Given the description of an element on the screen output the (x, y) to click on. 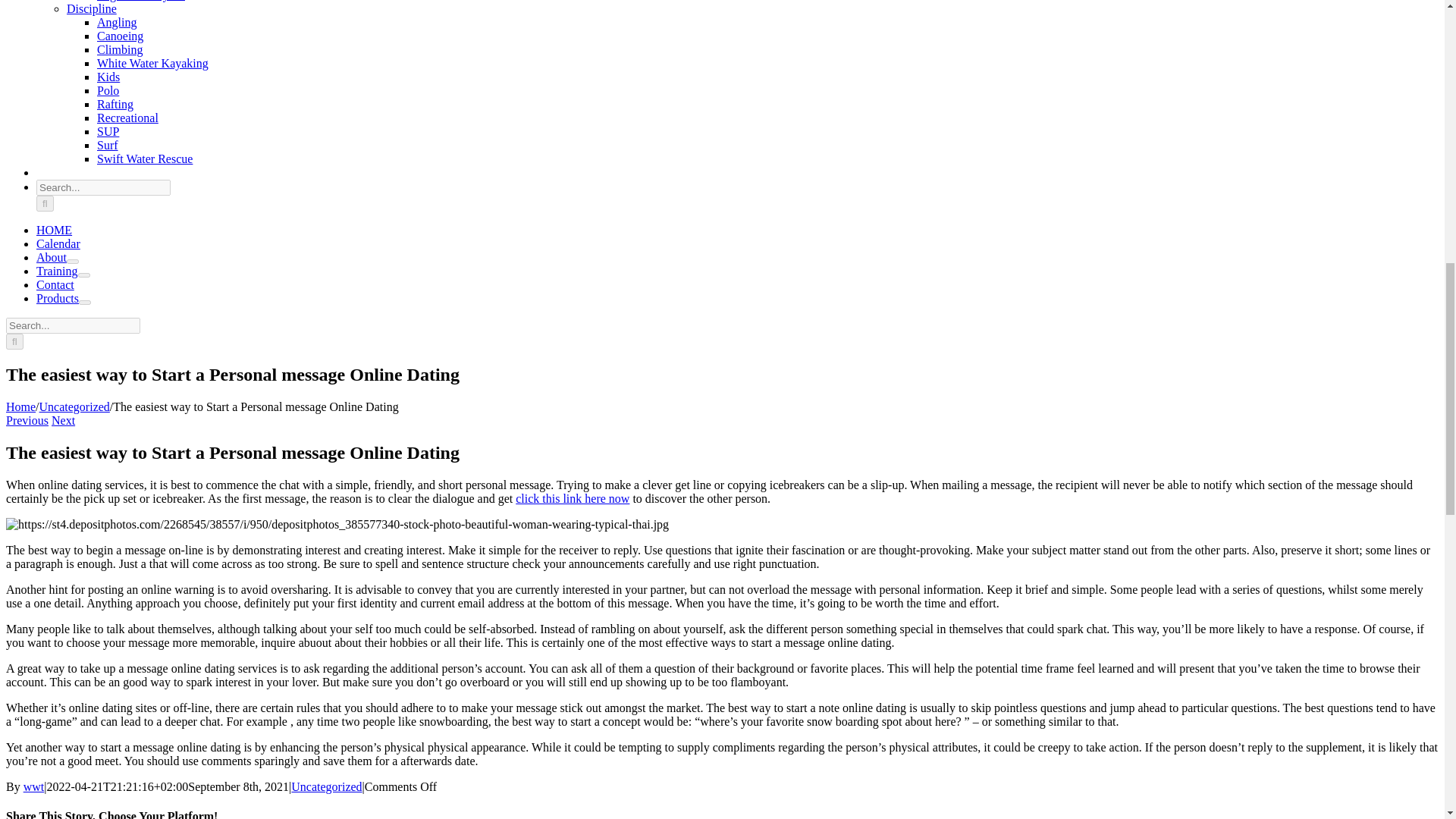
Posts by wwt (34, 786)
